Given the description of an element on the screen output the (x, y) to click on. 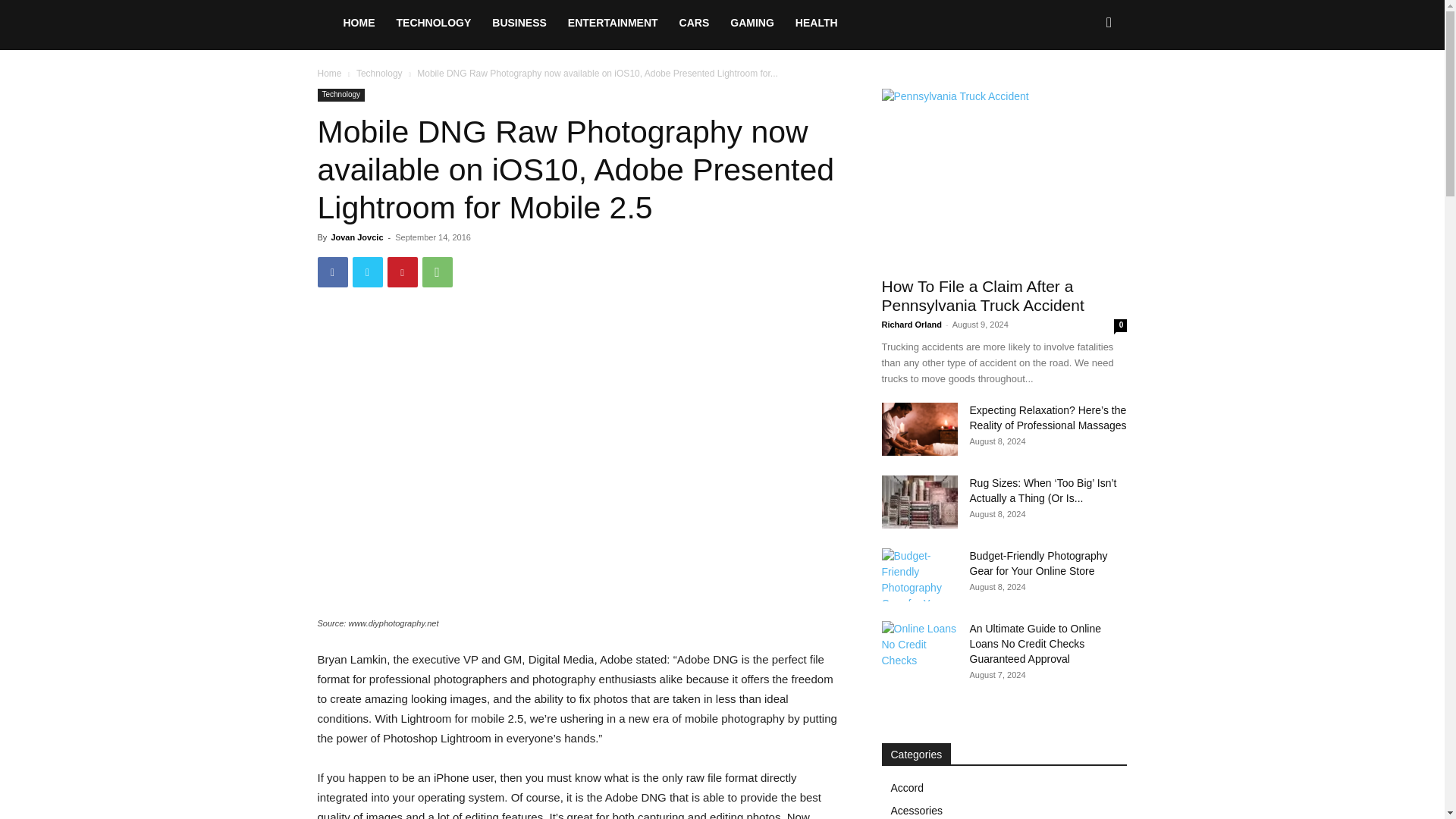
TECHNOLOGY (433, 22)
WhatsApp (436, 272)
Facebook (332, 272)
Jovan Jovcic (356, 236)
Twitter (366, 272)
Technology (341, 94)
View all posts in Technology (379, 72)
Pinterest (401, 272)
HOME (358, 22)
